Given the description of an element on the screen output the (x, y) to click on. 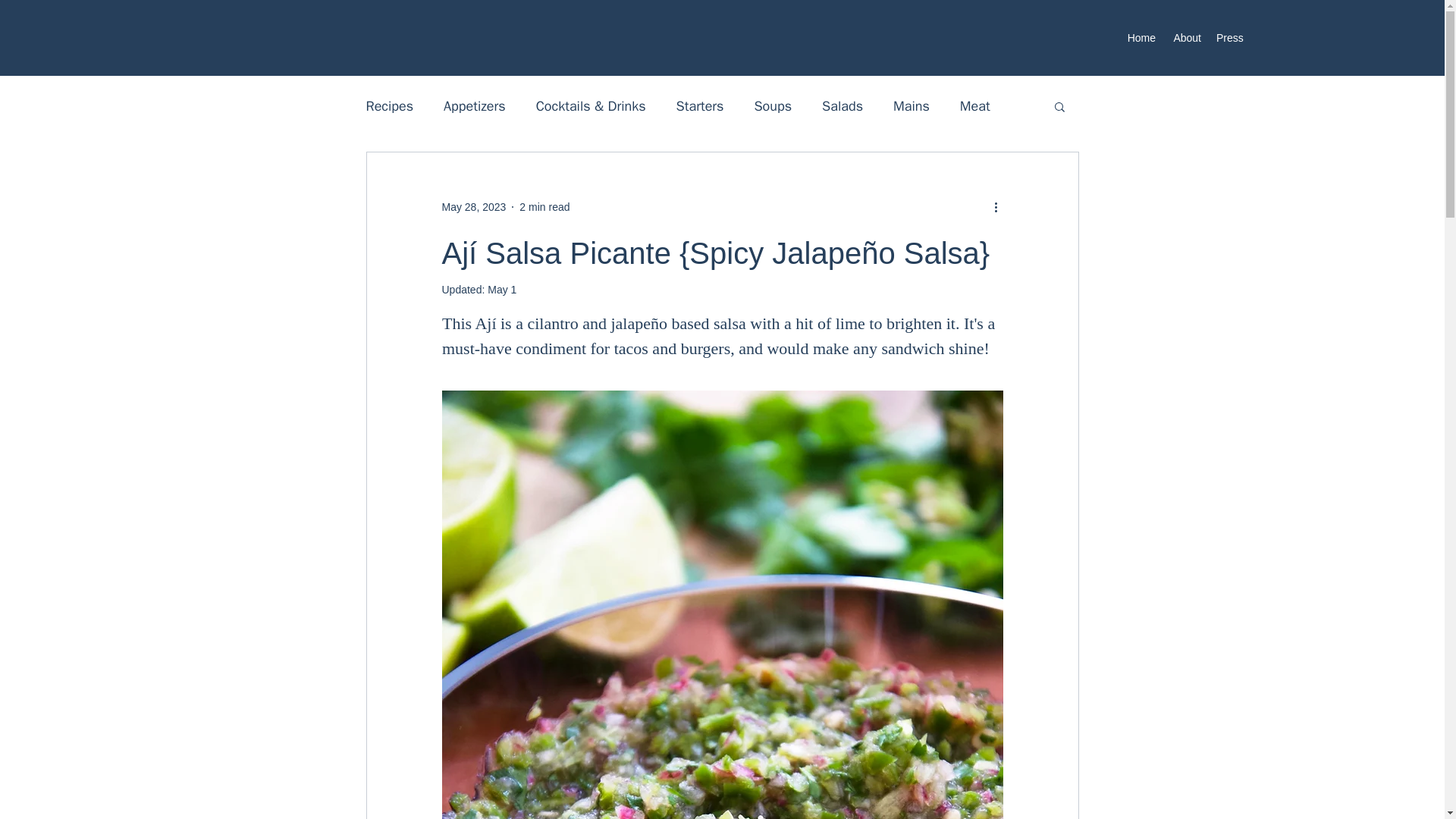
May 1 (501, 289)
Meat (974, 106)
Recipes (389, 106)
Press (1228, 37)
About (1185, 37)
Appetizers (474, 106)
Home (1141, 37)
Soups (773, 106)
Mains (911, 106)
May 28, 2023 (473, 205)
Salads (842, 106)
Starters (700, 106)
2 min read (544, 205)
